Given the description of an element on the screen output the (x, y) to click on. 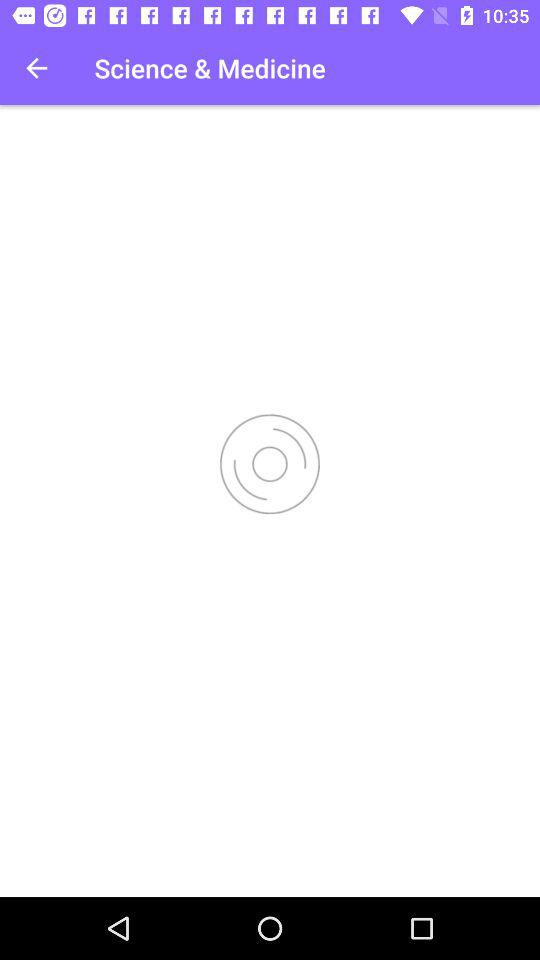
select the item to the left of science & medicine icon (36, 68)
